Given the description of an element on the screen output the (x, y) to click on. 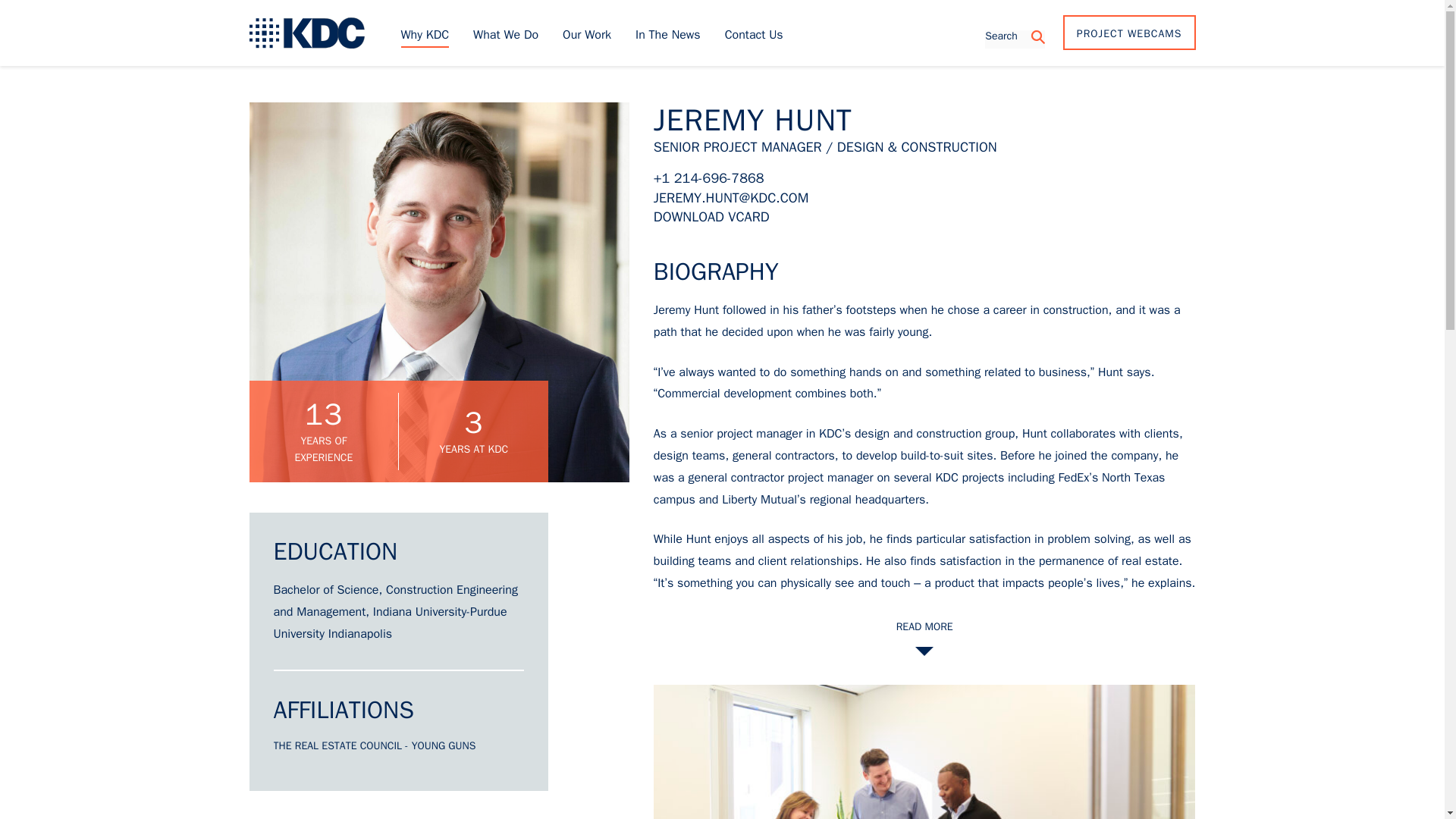
What We Do (505, 32)
Why KDC (424, 32)
